Given the description of an element on the screen output the (x, y) to click on. 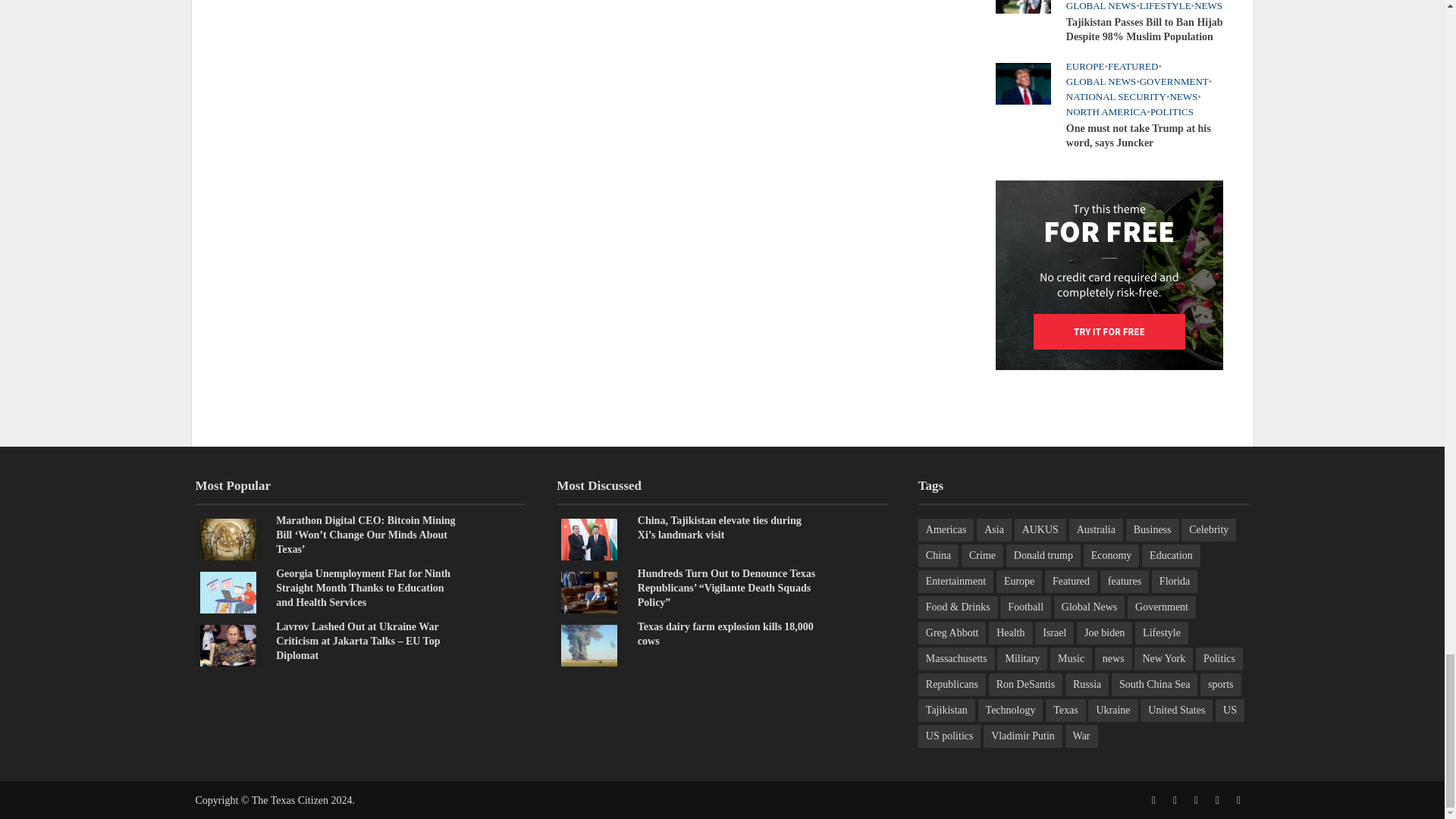
One must not take Trump at his word, says Juncker (1021, 82)
